Given the description of an element on the screen output the (x, y) to click on. 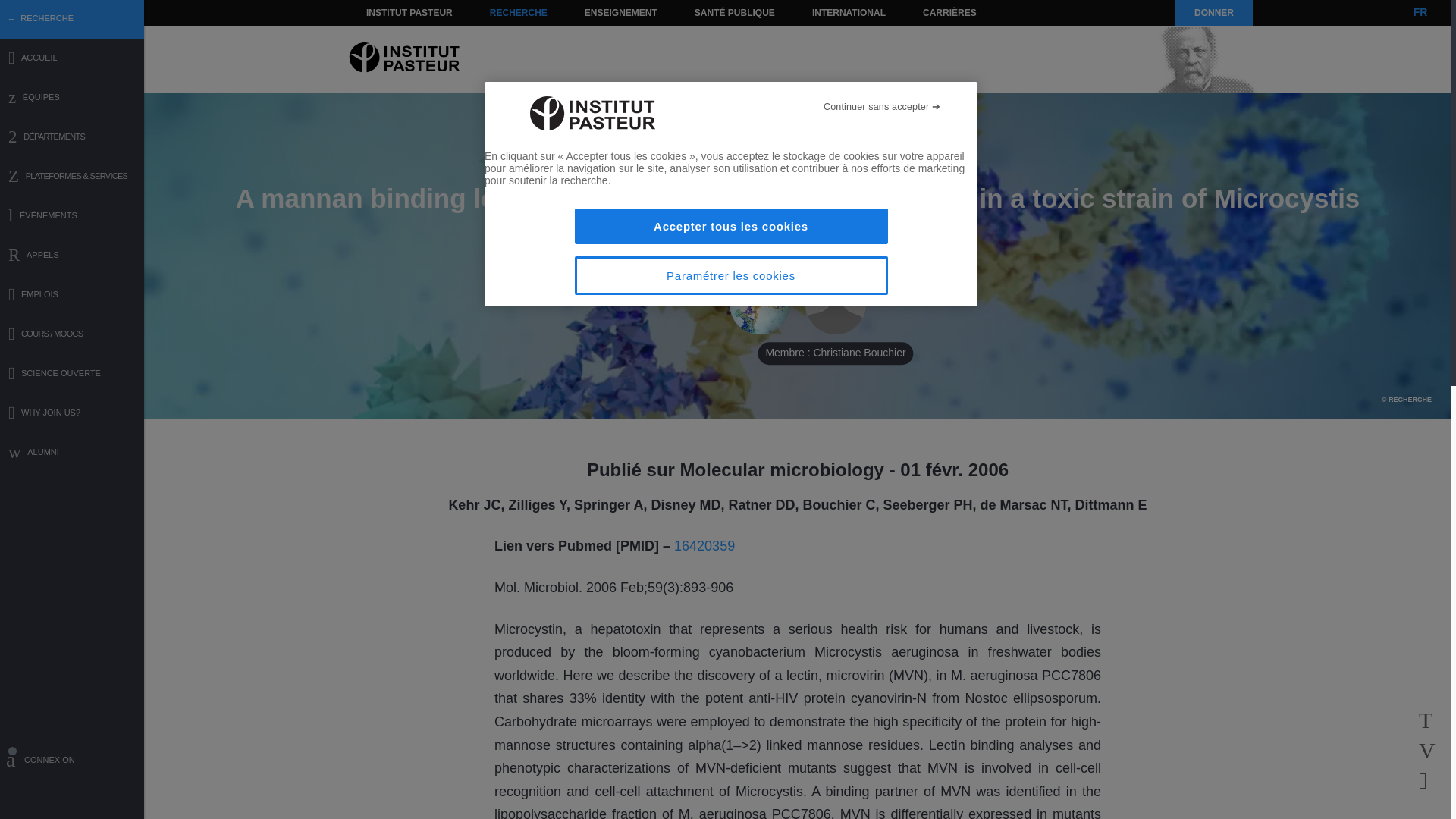
CONNEXION (72, 762)
APPELS (72, 256)
16420359 (704, 545)
RECHERCHE (518, 12)
Aller au contenu (391, 11)
ALUMNI (72, 454)
ACCUEIL (72, 59)
INSTITUT PASTEUR (409, 12)
Membre : Christiane Bouchier (835, 304)
INTERNATIONAL (848, 12)
EMPLOIS (72, 296)
ENSEIGNEMENT (620, 12)
SCIENCE OUVERTE (72, 374)
DONNER (1213, 12)
WHY JOIN US? (72, 413)
